Given the description of an element on the screen output the (x, y) to click on. 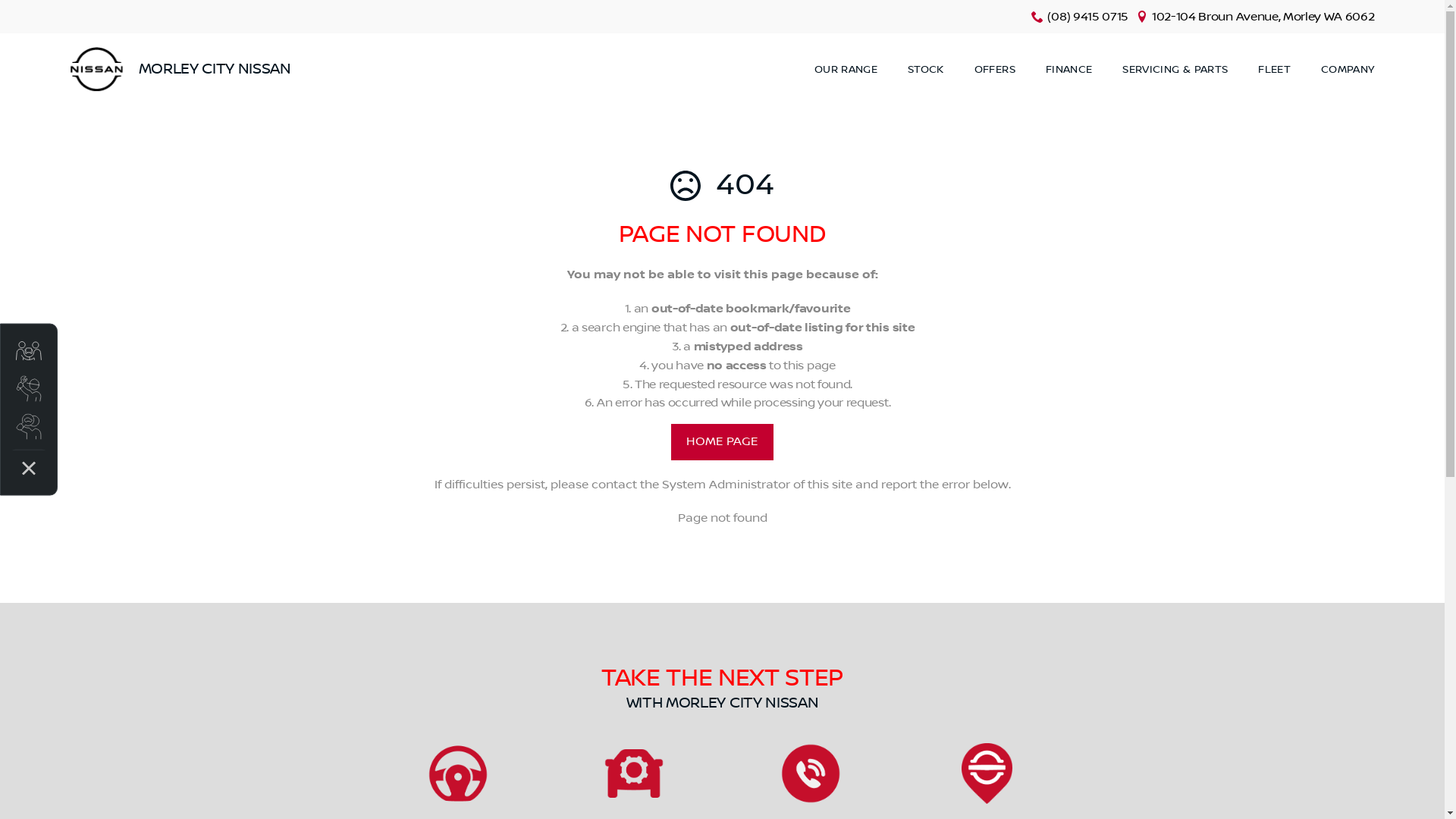
OUR RANGE Element type: text (845, 69)
OFFERS Element type: text (994, 69)
HOME PAGE Element type: text (722, 441)
SERVICING & PARTS Element type: text (1174, 69)
FLEET Element type: text (1273, 69)
(08) 9415 0715 Element type: text (1087, 16)
COMPANY Element type: text (1339, 69)
FINANCE Element type: text (1068, 69)
MORLEY CITY NISSAN Element type: text (179, 69)
102-104 Broun Avenue, Morley WA 6062 Element type: text (1262, 16)
STOCK Element type: text (925, 69)
